Given the description of an element on the screen output the (x, y) to click on. 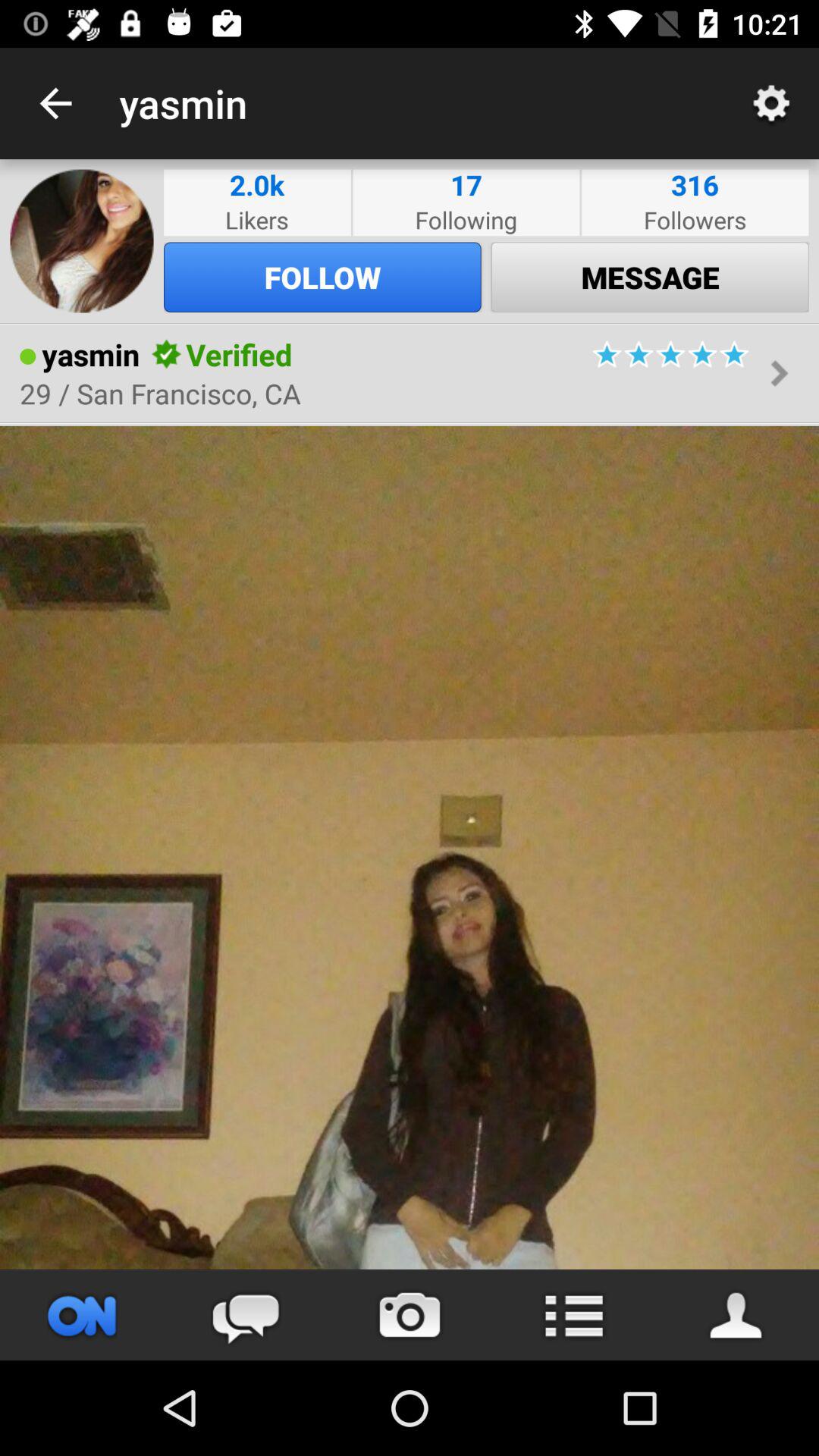
press icon to the right of the follow item (649, 277)
